Given the description of an element on the screen output the (x, y) to click on. 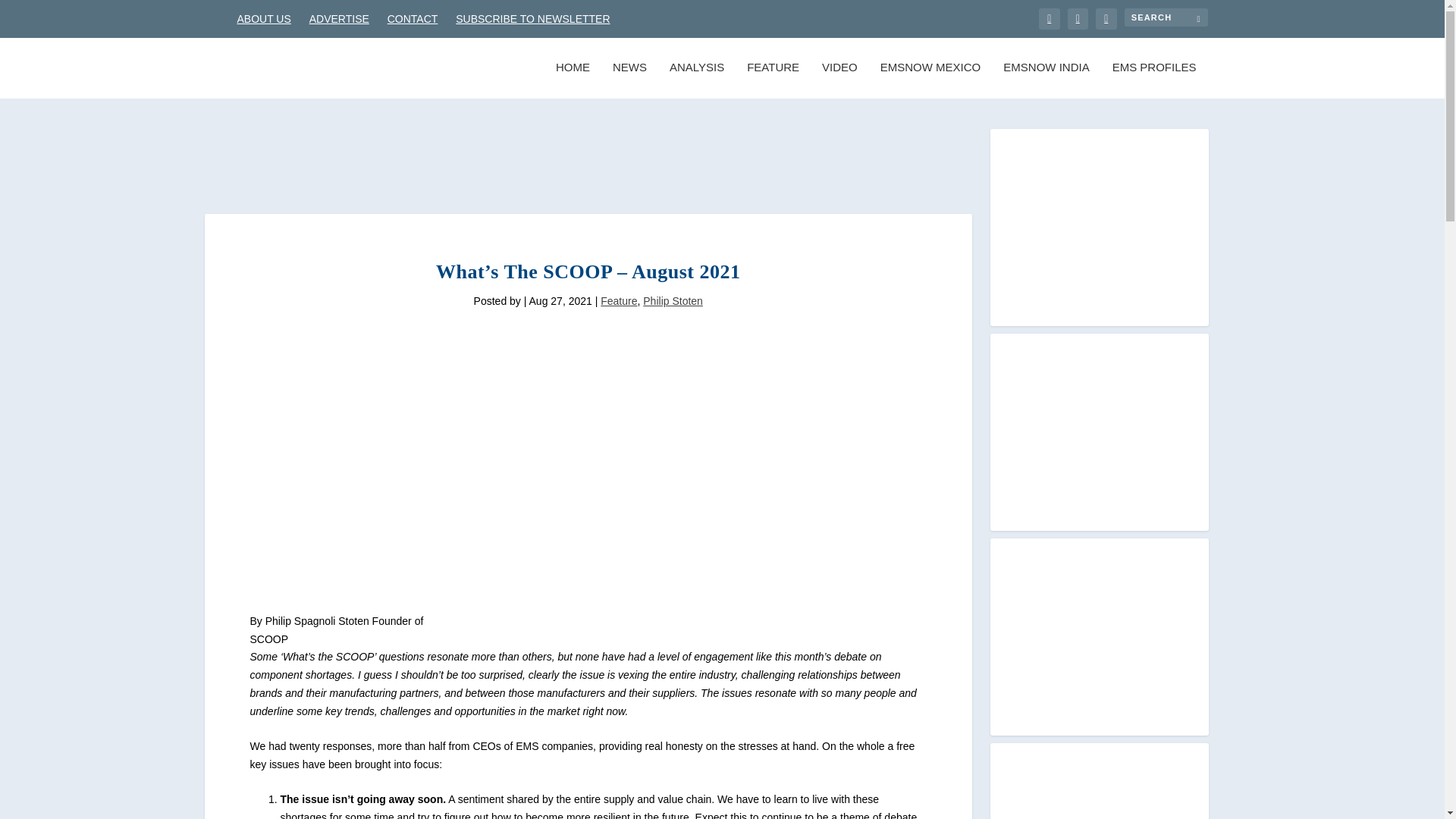
SUBSCRIBE TO NEWSLETTER (532, 18)
NEWS (629, 79)
CONTACT (412, 18)
EMSNOW INDIA (1046, 79)
EMS PROFILES (1154, 79)
ADVERTISE (338, 18)
Search for: (1165, 17)
ABOUT US (262, 18)
HOME (572, 79)
ANALYSIS (696, 79)
Feature (618, 300)
VIDEO (839, 79)
EMSNOW MEXICO (930, 79)
Philip Stoten (673, 300)
TheReadingRoom (346, 492)
